Given the description of an element on the screen output the (x, y) to click on. 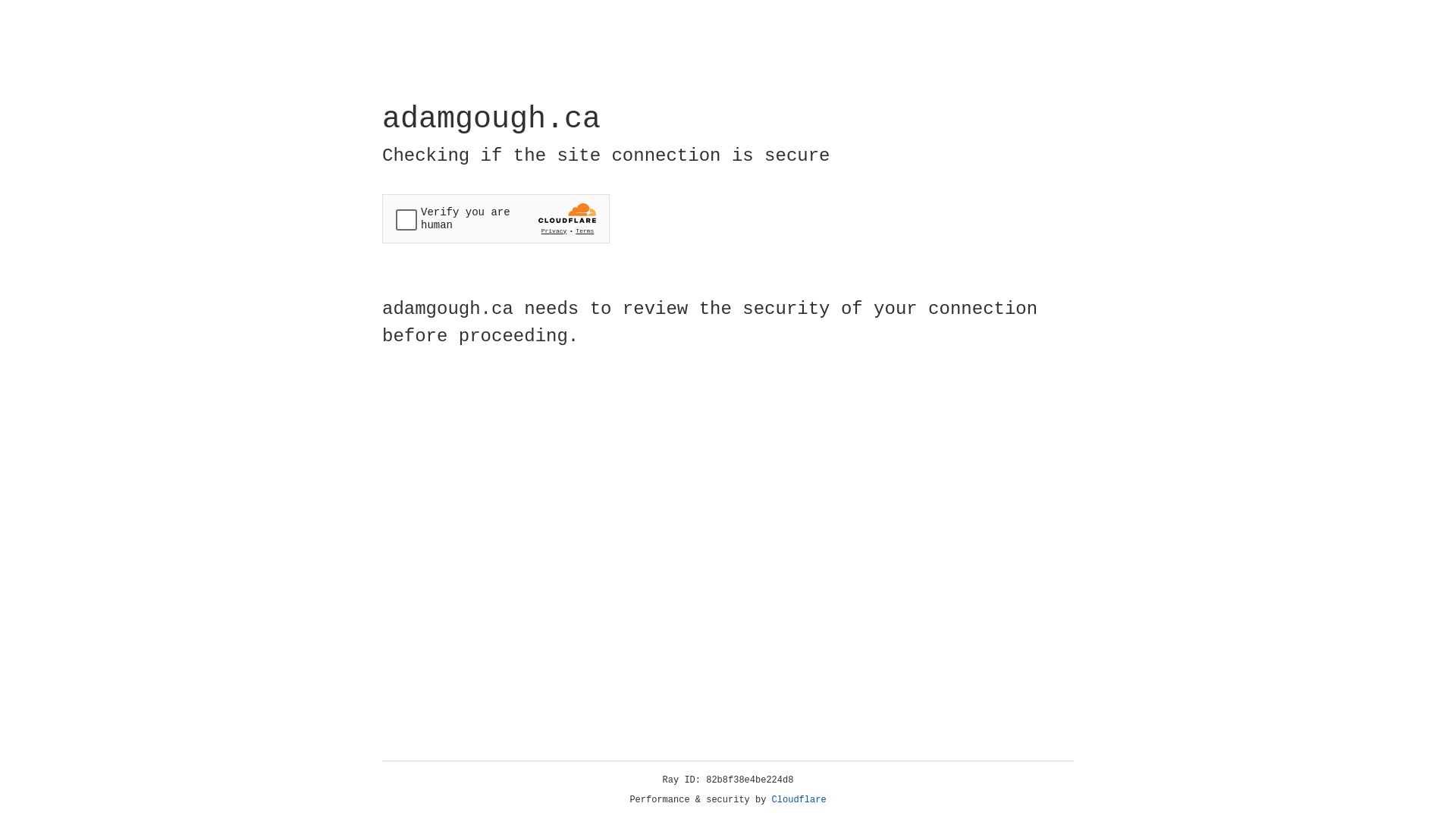
Cloudflare Element type: text (798, 799)
Widget containing a Cloudflare security challenge Element type: hover (495, 218)
